Given the description of an element on the screen output the (x, y) to click on. 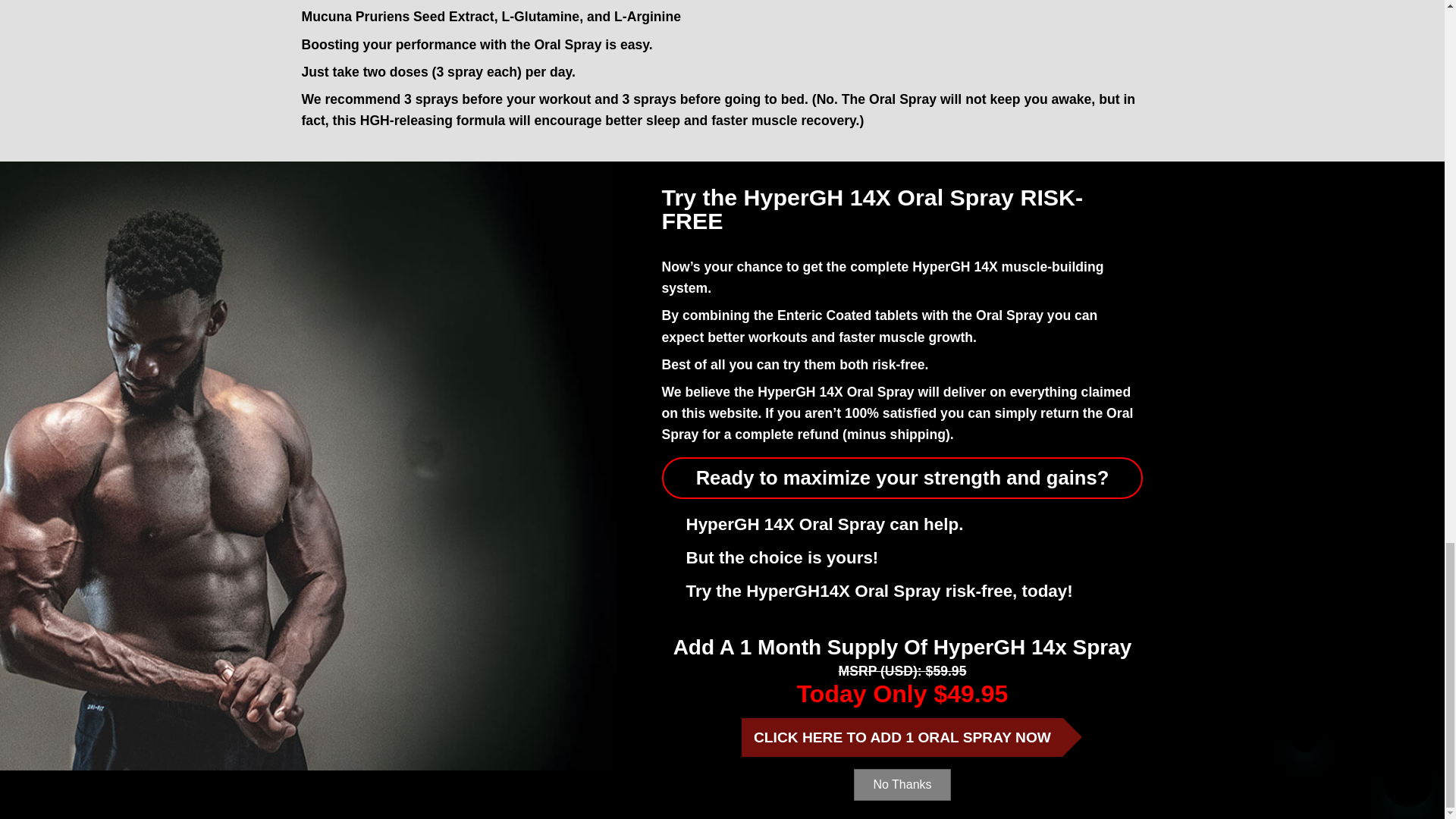
No Thanks (901, 784)
CLICK HERE TO ADD 1 ORAL SPRAY NOW (901, 737)
